Given the description of an element on the screen output the (x, y) to click on. 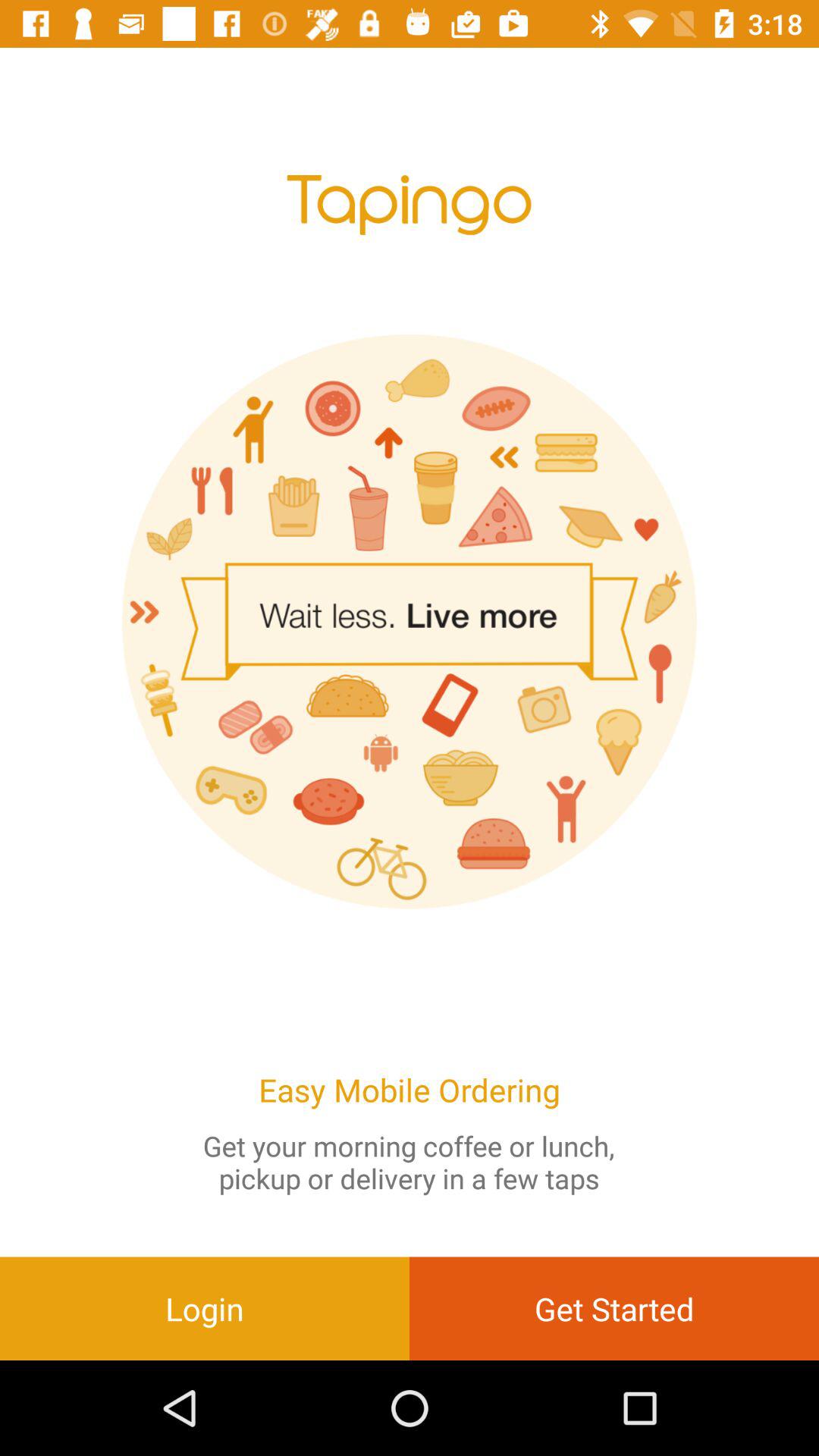
flip to get started item (614, 1308)
